Given the description of an element on the screen output the (x, y) to click on. 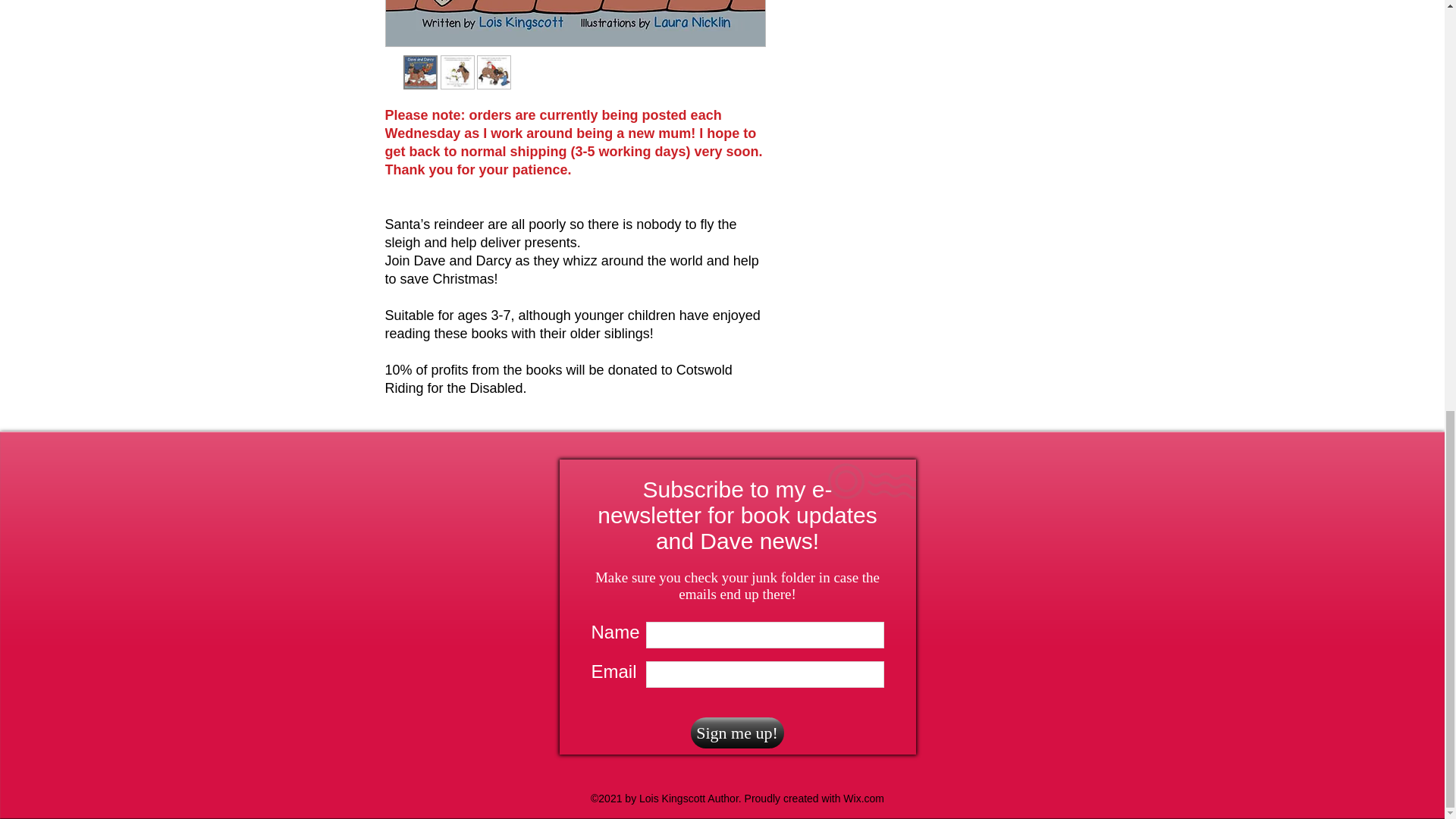
Sign me up! (736, 732)
